Given the description of an element on the screen output the (x, y) to click on. 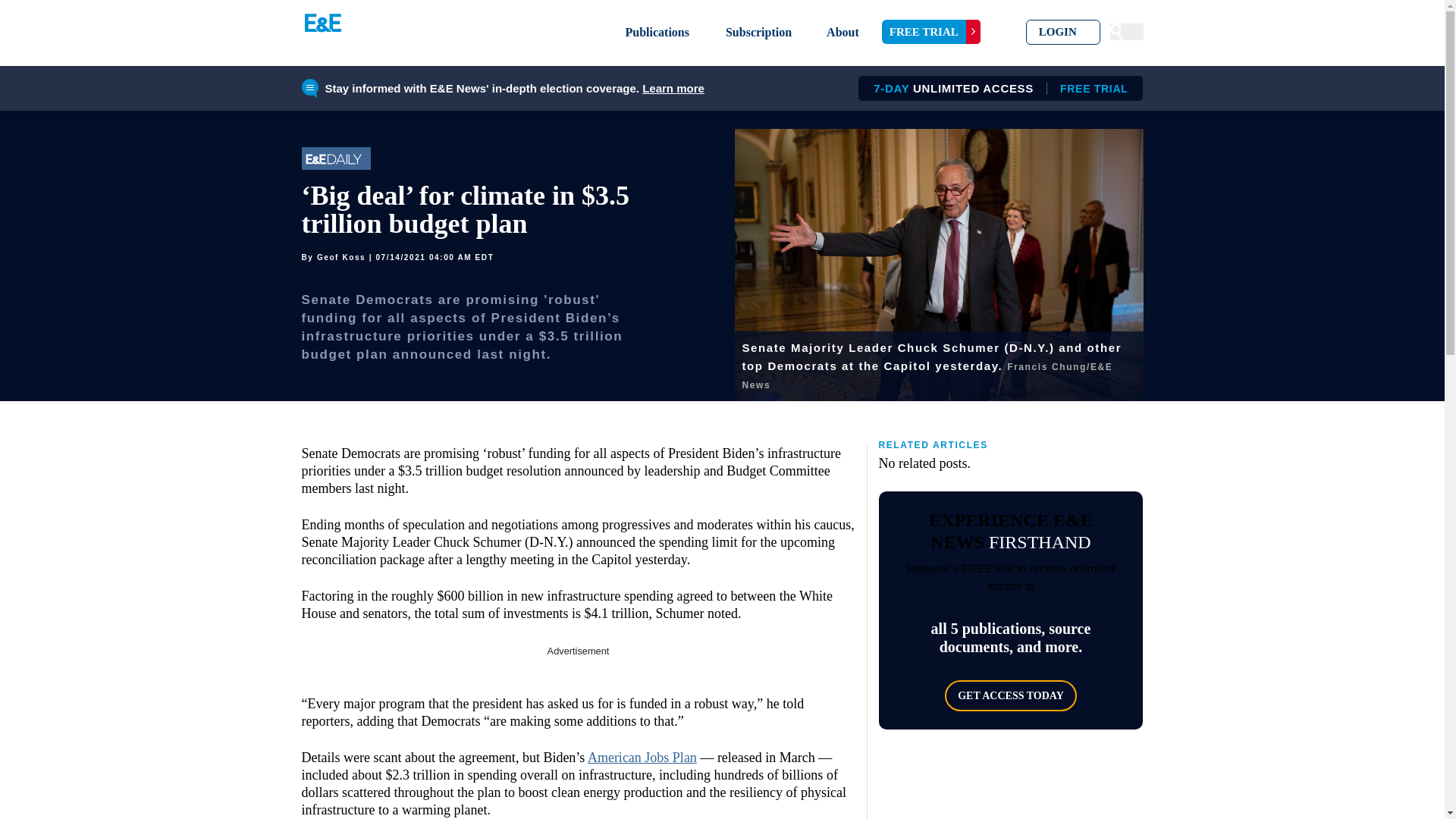
About (843, 32)
Publications (656, 32)
American Jobs Plan (642, 757)
Subscription (758, 32)
Learn more (673, 88)
GET ACCESS TODAY (1010, 695)
FREE TRIAL (994, 88)
LOGIN (930, 31)
